Given the description of an element on the screen output the (x, y) to click on. 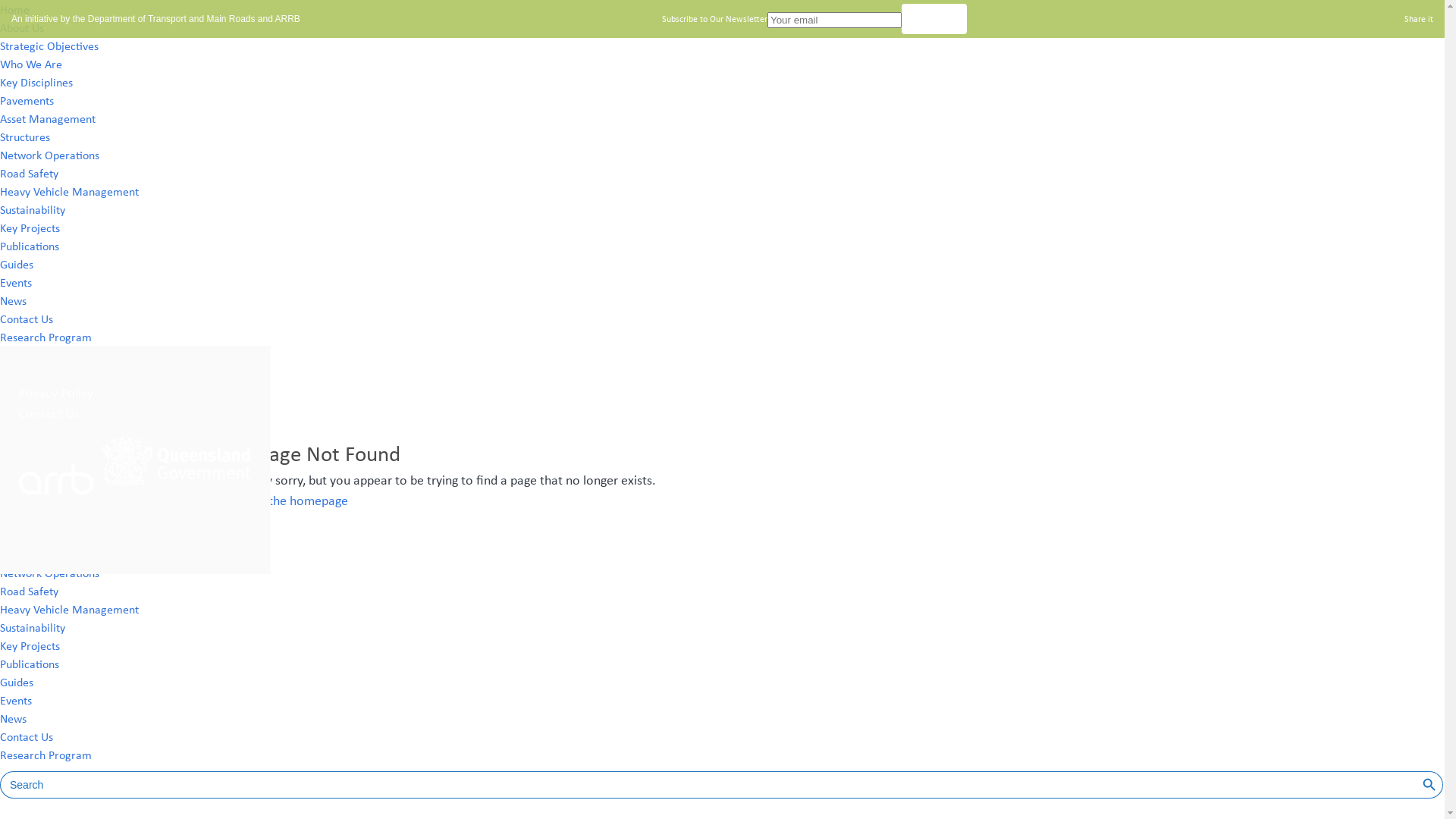
Structures Element type: text (25, 554)
NACOE Element type: hover (75, 406)
Strategic Objectives Element type: text (49, 45)
Key Projects Element type: text (29, 227)
Network Operations Element type: text (49, 154)
Return to the homepage Element type: text (279, 499)
Contact Us Element type: text (26, 736)
Pavements Element type: text (26, 517)
Key Disciplines Element type: text (36, 499)
Asset Management Element type: text (47, 535)
Contact Us Element type: text (26, 318)
Events Element type: text (15, 281)
News Element type: text (13, 299)
Who We Are Element type: text (31, 481)
Contact Us Element type: text (48, 412)
Road Safety Element type: text (29, 172)
Structures Element type: text (25, 136)
Road Safety Element type: text (29, 590)
News Element type: text (13, 717)
Guides Element type: text (16, 681)
Guides Element type: text (16, 263)
Pavements Element type: text (26, 99)
Publications Element type: text (29, 245)
Research Program Element type: text (45, 336)
About Us Element type: text (21, 26)
Privacy Policy Element type: text (55, 391)
Home Element type: text (14, 8)
Heavy Vehicle Management Element type: text (69, 190)
Strategic Objectives Element type: text (49, 463)
Events Element type: text (15, 699)
Publications Element type: text (29, 663)
Heavy Vehicle Management Element type: text (69, 608)
Search Button Element type: text (1430, 784)
Home Element type: text (14, 426)
Who We Are Element type: text (31, 63)
Key Projects Element type: text (29, 645)
Key Disciplines Element type: text (36, 81)
Submit Element type: text (933, 18)
About Us Element type: text (21, 444)
Network Operations Element type: text (49, 572)
Asset Management Element type: text (47, 117)
Sustainability Element type: text (32, 626)
Sustainability Element type: text (32, 208)
Research Program Element type: text (45, 754)
